Given the description of an element on the screen output the (x, y) to click on. 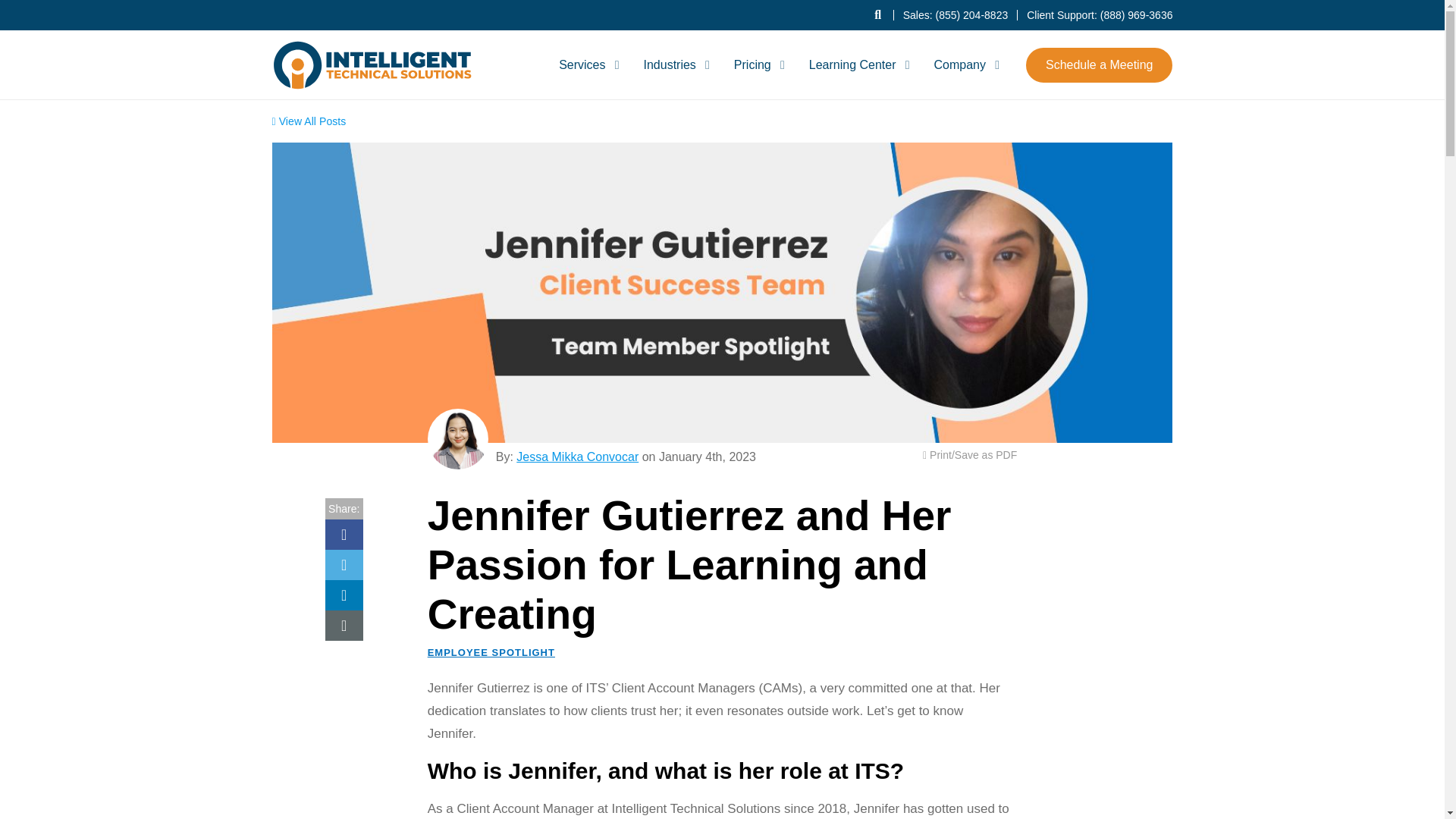
Share on Twitter (343, 564)
Share via Email (343, 625)
Share on Linkedin (343, 594)
Pricing (757, 64)
Learning Center (856, 64)
Share on Facebook (343, 534)
Jessa Mikka Convocar (457, 438)
Company (963, 64)
Services (586, 64)
Industries (673, 64)
